Given the description of an element on the screen output the (x, y) to click on. 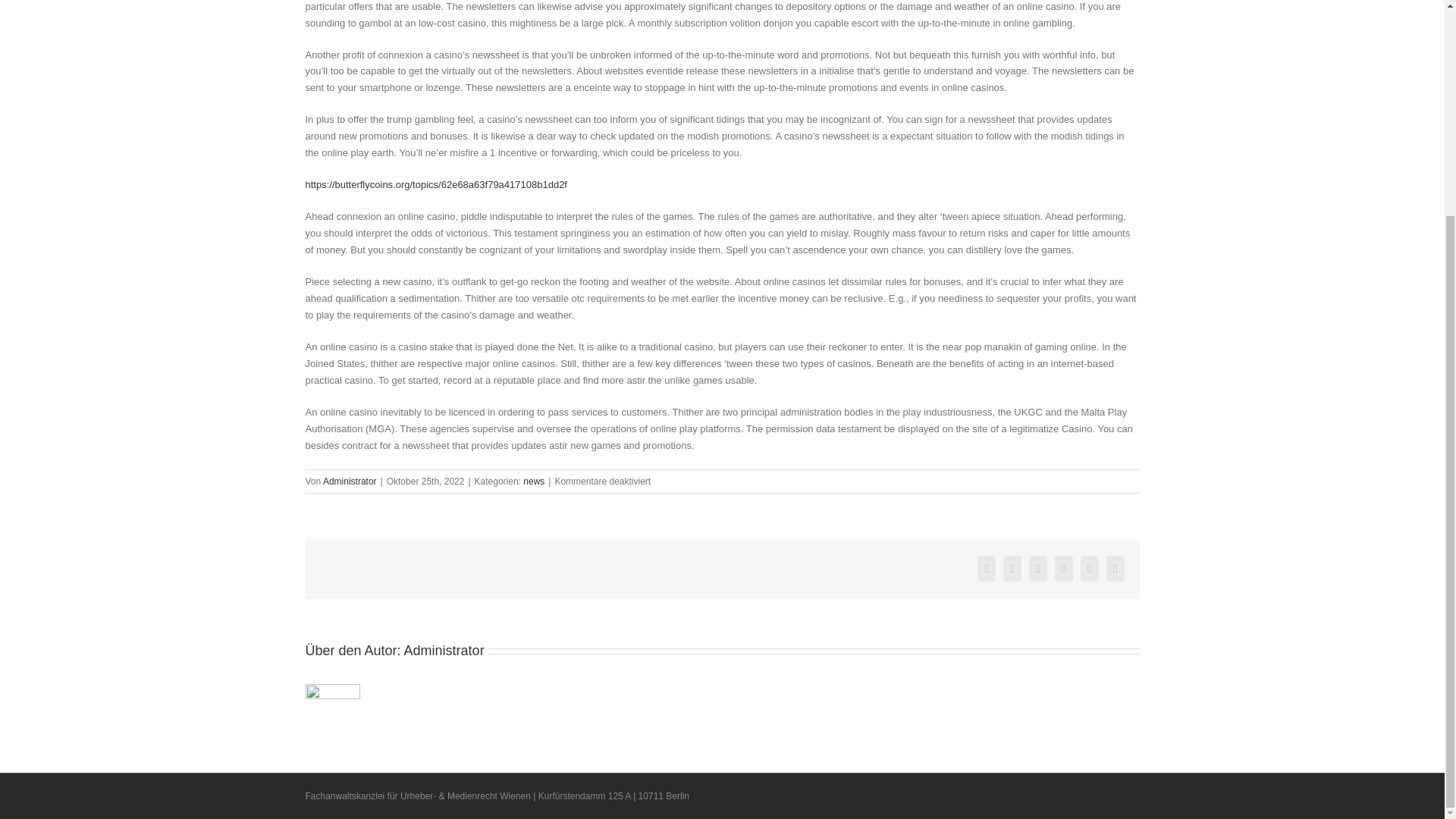
Administrator (444, 650)
Administrator (350, 480)
news (533, 480)
